Given the description of an element on the screen output the (x, y) to click on. 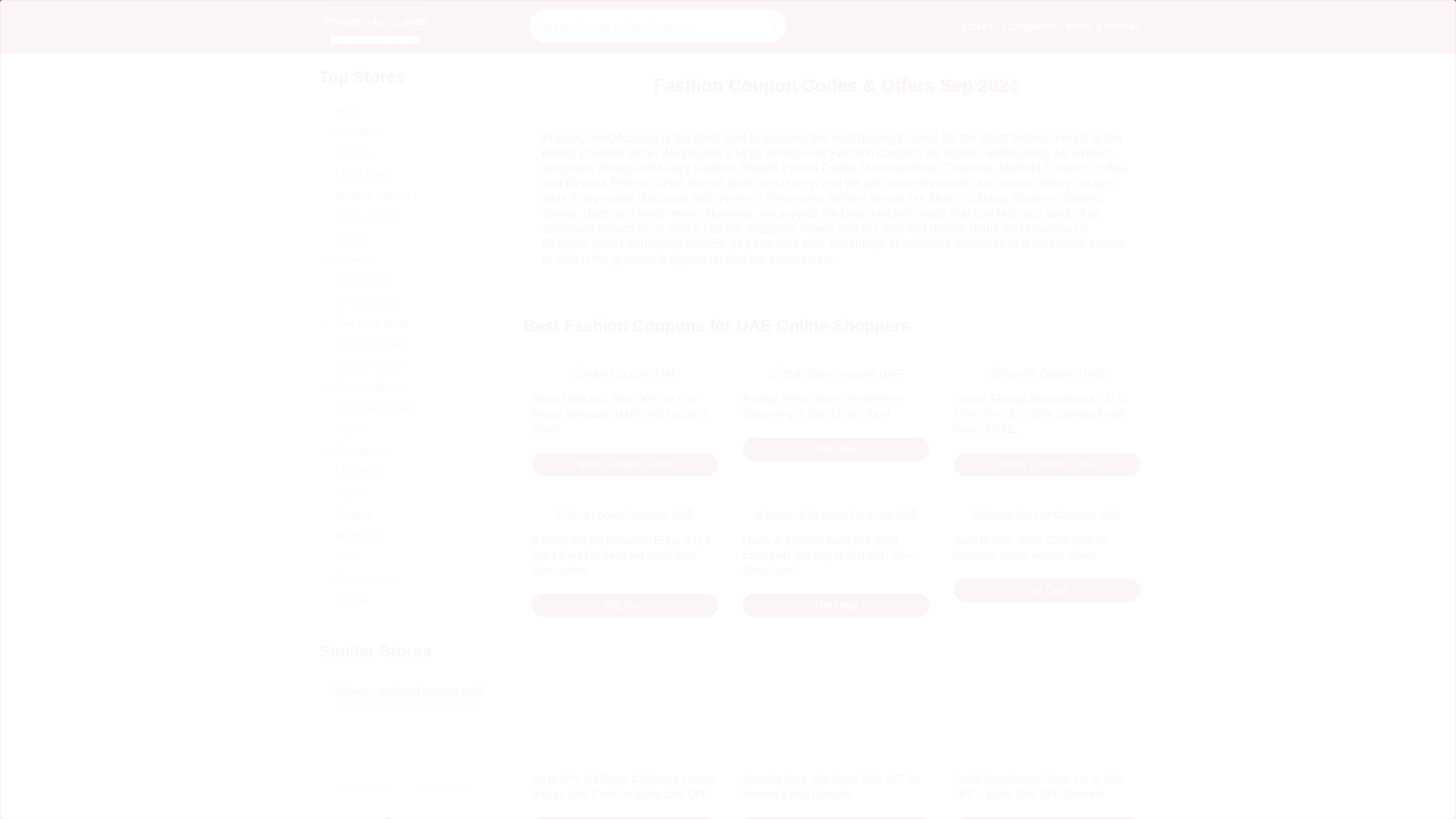
Get Deal (835, 605)
Wholesale21 Coupons UAE (443, 744)
Get Deal (624, 605)
Swiss Arabian Coupons UAE (409, 690)
Stores (975, 26)
Namshi Coupons UAE (1047, 373)
Categories (1030, 26)
Show Coupon Code (1046, 463)
